Given the description of an element on the screen output the (x, y) to click on. 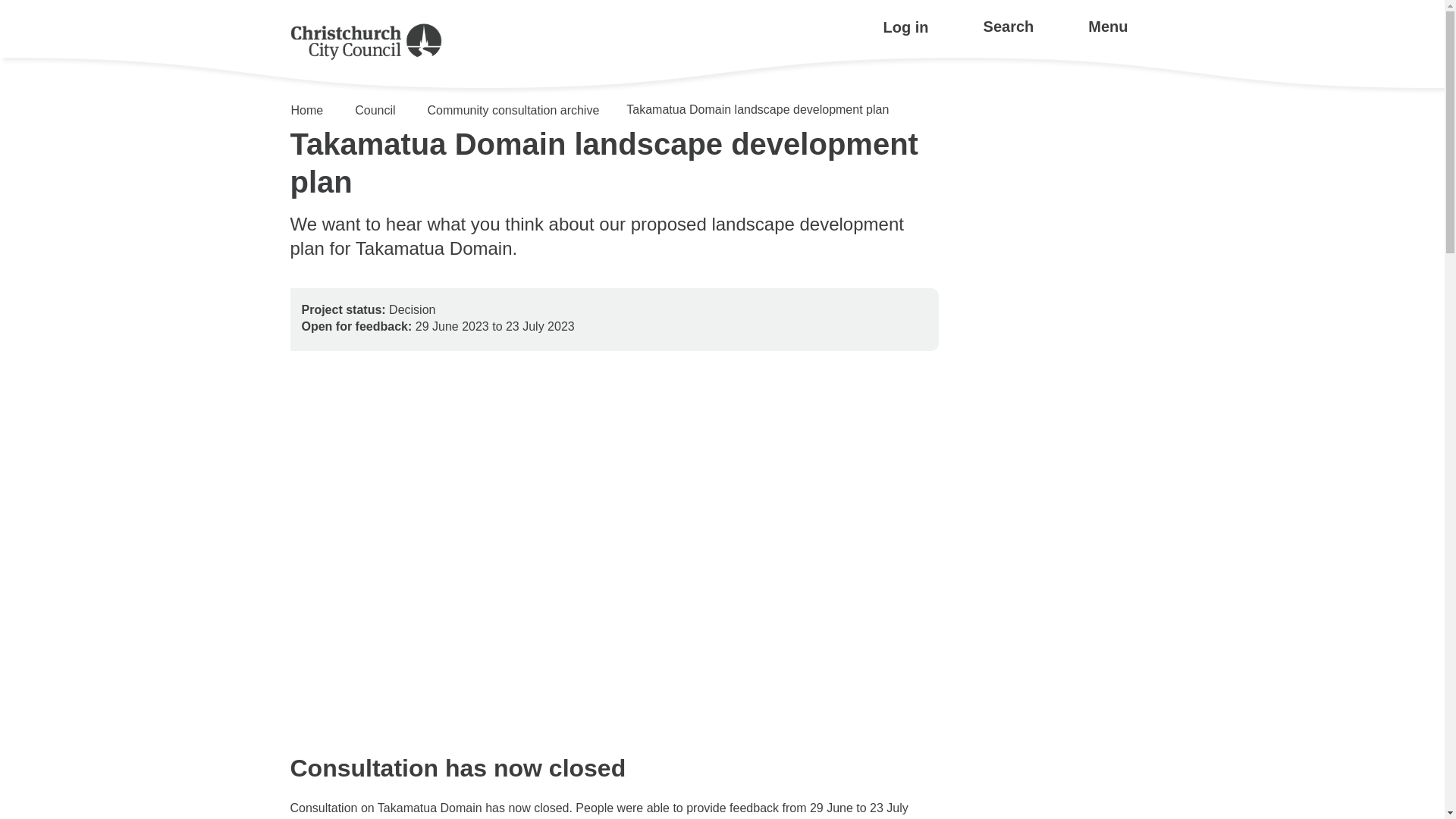
Council (370, 111)
Home (307, 111)
Search (1005, 27)
Christchurch City Council logo (365, 42)
Menu (1104, 27)
Community consultation archive (509, 111)
Log in (905, 27)
